Given the description of an element on the screen output the (x, y) to click on. 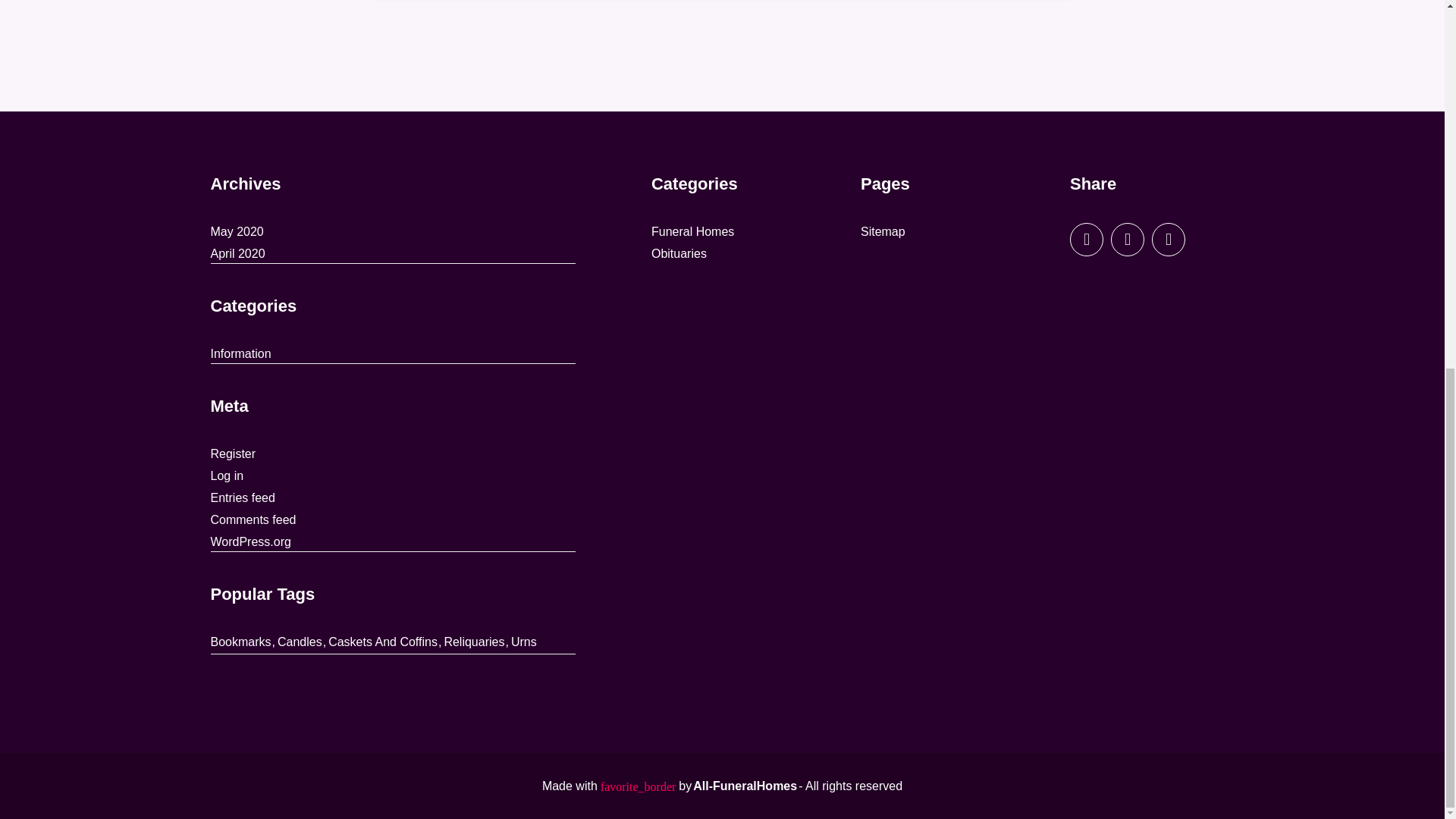
Urns (524, 642)
Information (240, 353)
Comments feed (254, 520)
WordPress.org (251, 542)
Register (233, 454)
Bookmarks (240, 642)
Candles (299, 642)
Entries feed (243, 497)
April 2020 (237, 253)
Obituaries (678, 253)
